Given the description of an element on the screen output the (x, y) to click on. 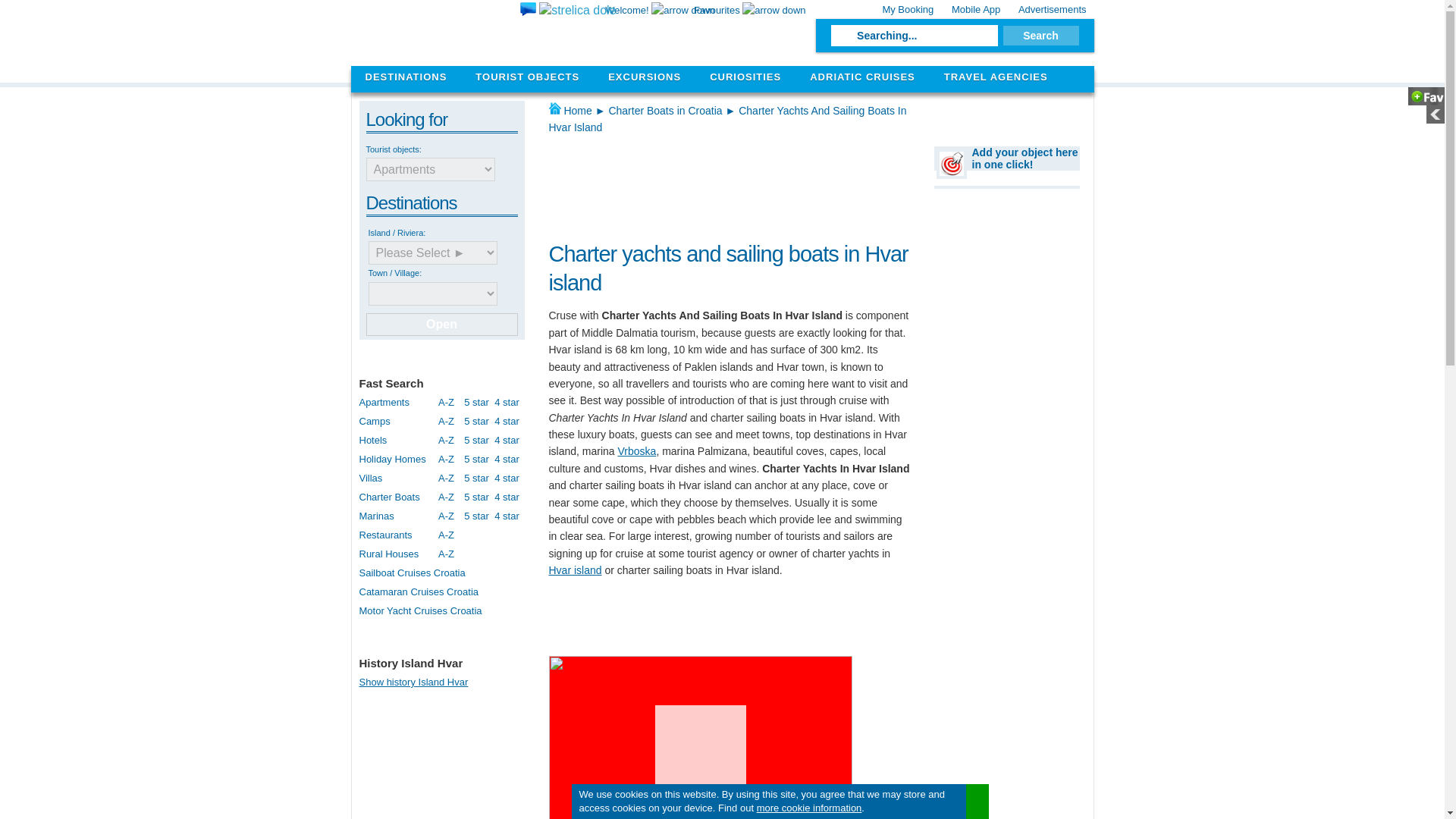
DESTINATIONS (406, 76)
Searching... (914, 35)
Curiosities In Croatia (745, 76)
Search (1040, 35)
Open (440, 323)
Log In Pages (907, 9)
Mobile App (975, 9)
My Booking (907, 9)
Main Page www.booking-dalmatia.com (468, 33)
Search (1040, 35)
Travel Agencies In Croatia (995, 76)
Advertisements (1052, 9)
Add your favourite objects and pages (750, 9)
Search (1040, 35)
Excursions In Croatia (643, 76)
